Given the description of an element on the screen output the (x, y) to click on. 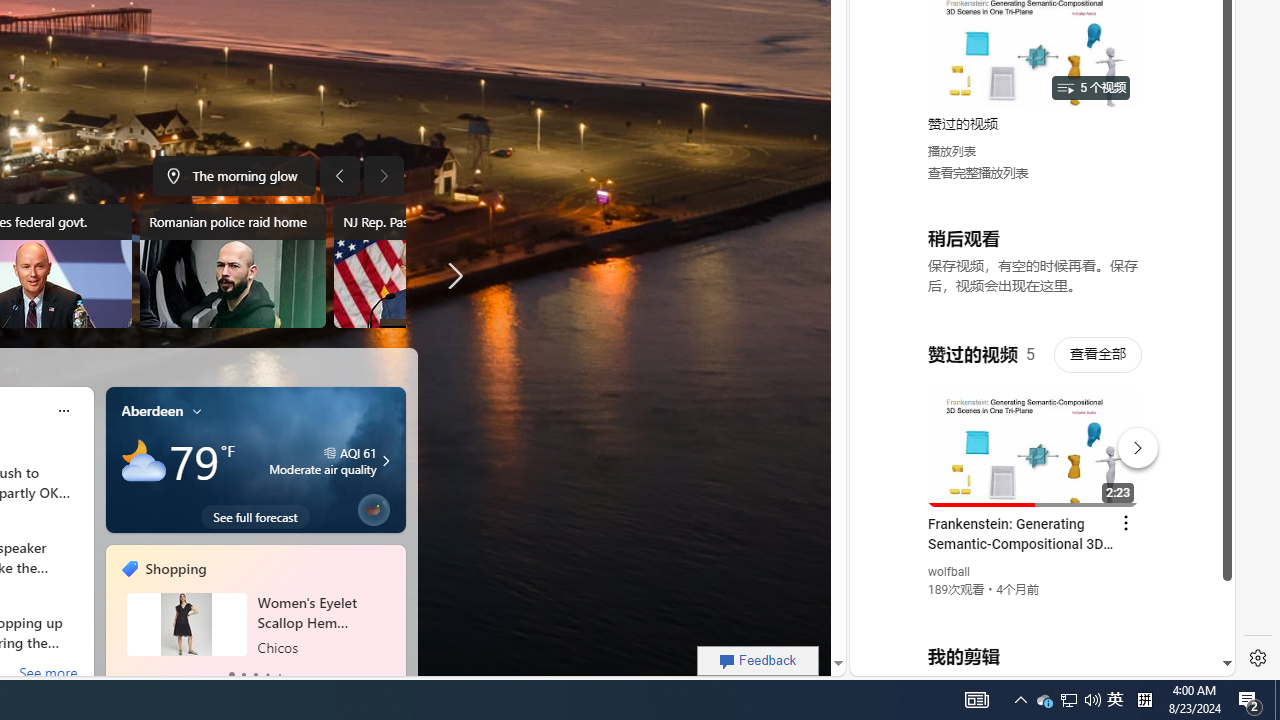
tab-3 (267, 674)
Feedback (758, 660)
aqi-icon (329, 453)
Class: dict_pnIcon rms_img (1028, 660)
#you (1034, 439)
tab-1 (242, 674)
Click to scroll right (1196, 83)
tab-4 (278, 674)
Class: eplant-bubble (373, 509)
The morning glow (234, 175)
